Given the description of an element on the screen output the (x, y) to click on. 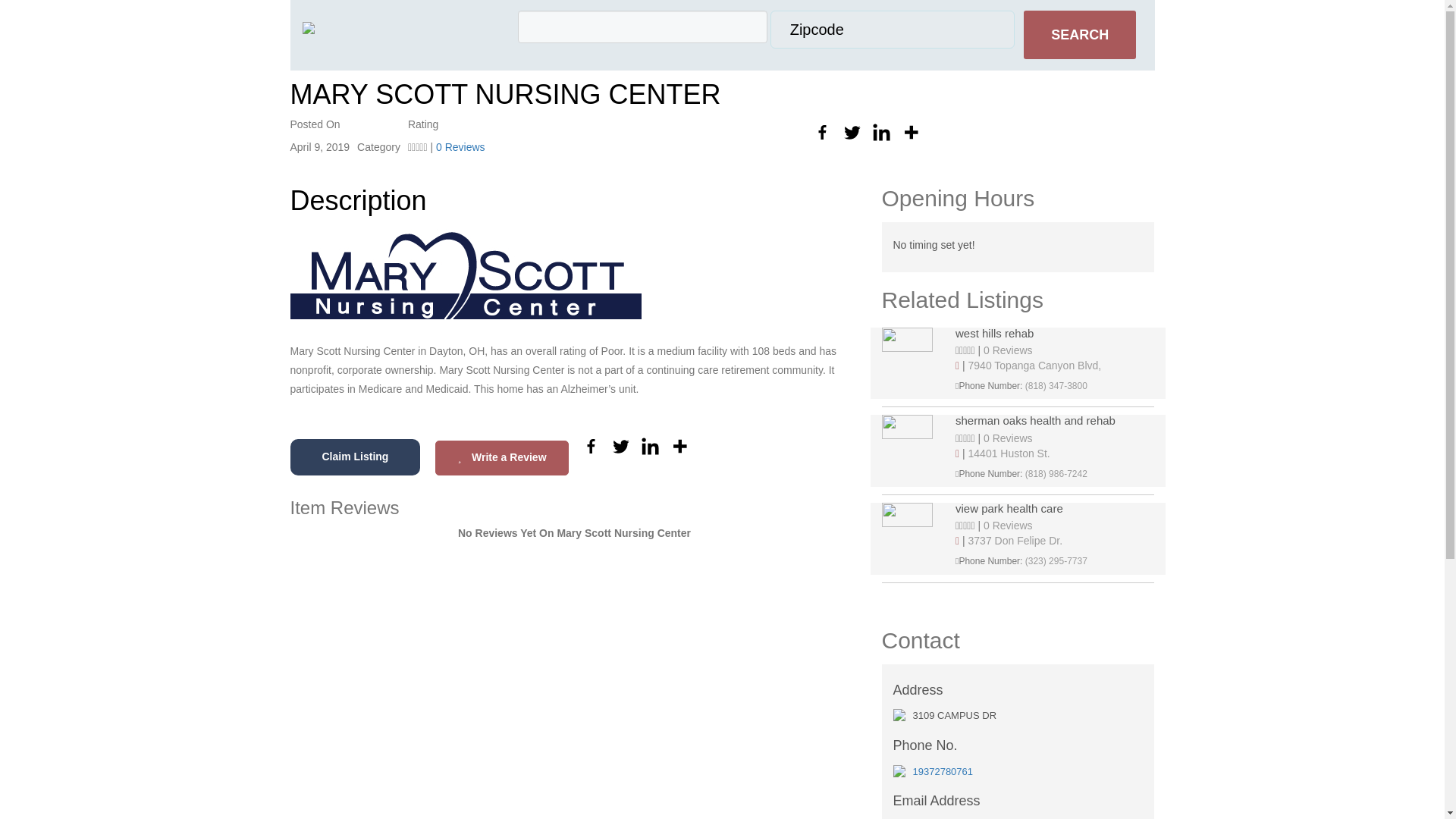
3737 Don Felipe Dr. (1015, 540)
0 Reviews (1008, 525)
Facebook (822, 131)
Twitter (851, 131)
Twitter (620, 446)
0 Reviews (1008, 438)
Search (1079, 34)
More (911, 131)
19372780761 (943, 771)
Search (1079, 34)
Linkedin (650, 446)
Facebook (591, 446)
Write a Review (501, 457)
Linkedin (881, 131)
14401 Huston St. (1008, 453)
